Given the description of an element on the screen output the (x, y) to click on. 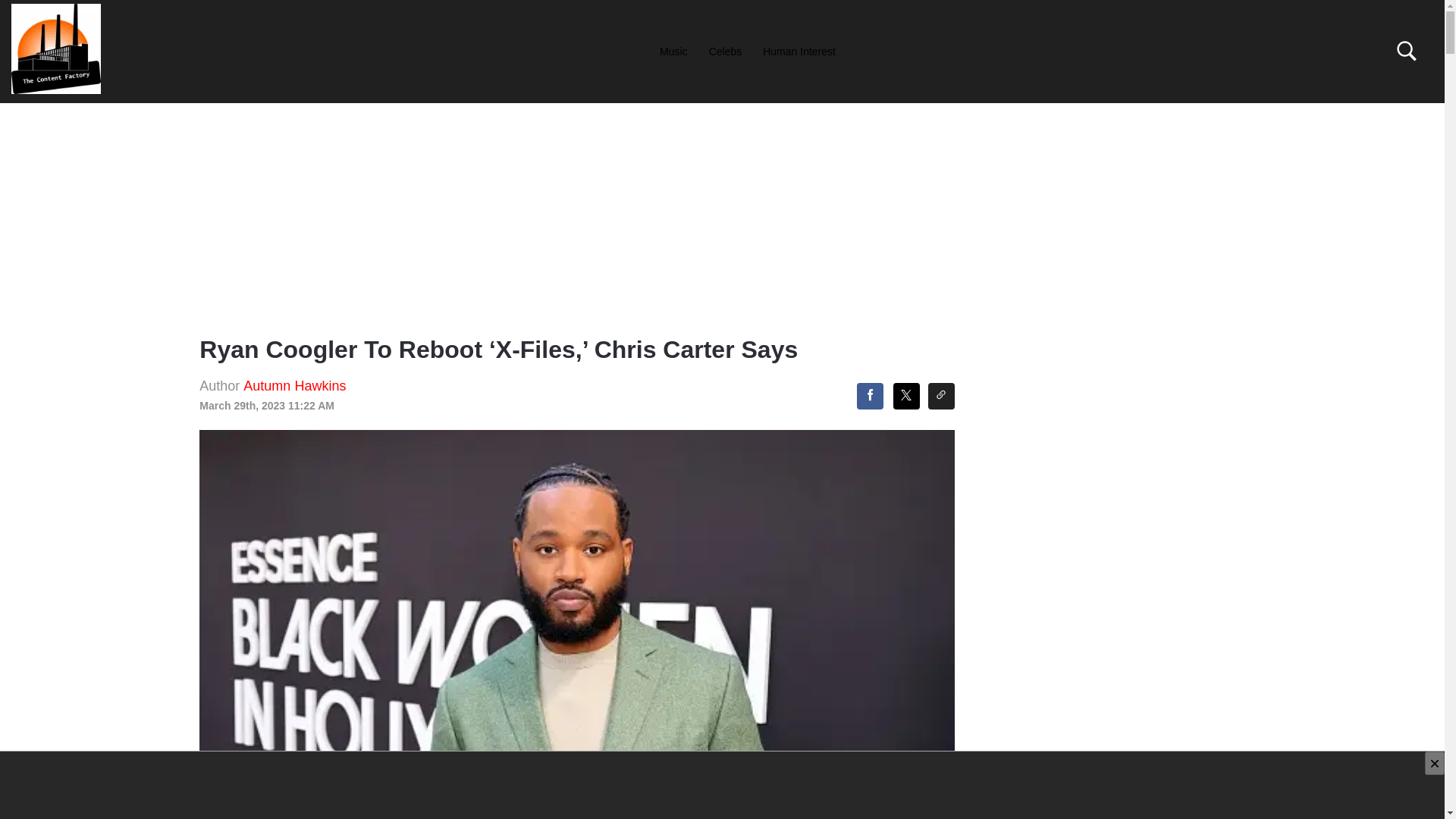
Autumn Hawkins (294, 385)
Human Interest (798, 51)
Autumn Hawkins (294, 385)
Celebs (725, 51)
Music (673, 51)
